Given the description of an element on the screen output the (x, y) to click on. 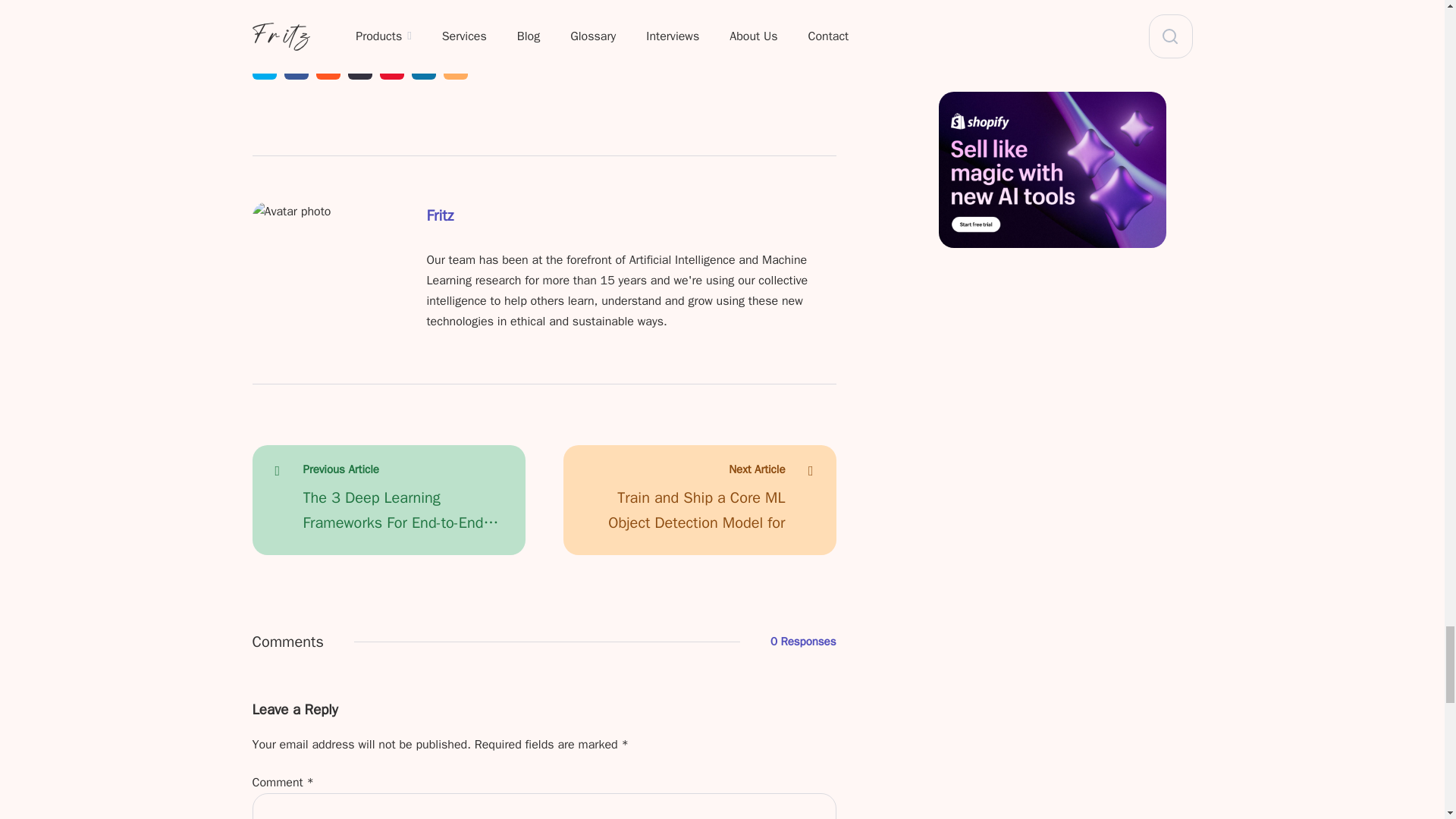
Add to buffer (359, 67)
Save to pocket (390, 67)
Share on LinkedIn (422, 67)
Submit to reddit (327, 67)
Share on LinkedIn (422, 67)
Email (454, 67)
Email (454, 67)
Save to pocket (390, 67)
Tweet (263, 67)
Share on Facebook (295, 67)
Add to buffer (359, 67)
Share on Facebook (295, 67)
Submit to reddit (327, 67)
Fritz (439, 221)
